Given the description of an element on the screen output the (x, y) to click on. 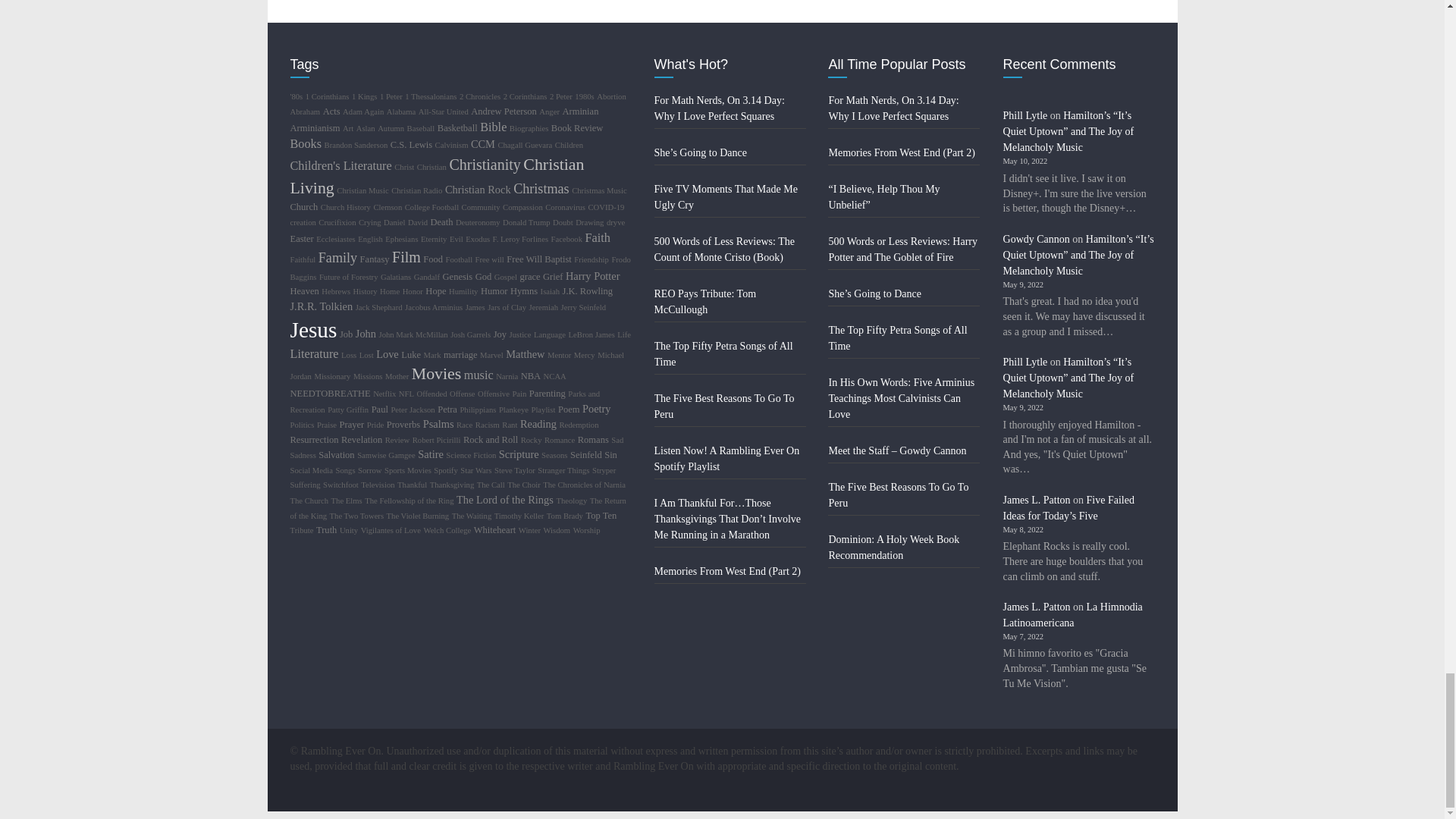
4 topics (364, 96)
4 topics (295, 96)
8 topics (327, 96)
